Given the description of an element on the screen output the (x, y) to click on. 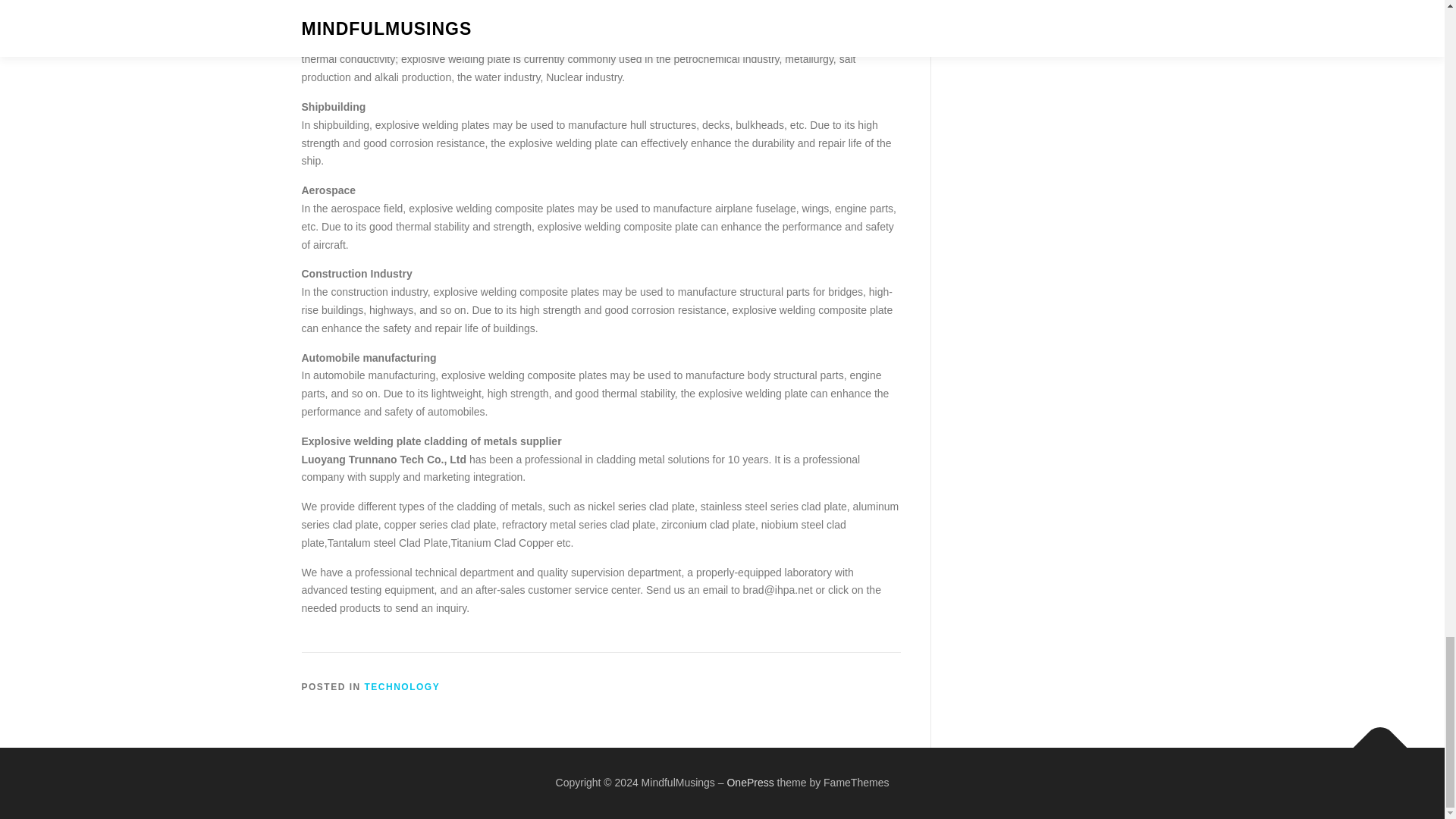
Back To Top (1372, 740)
TECHNOLOGY (403, 686)
